Given the description of an element on the screen output the (x, y) to click on. 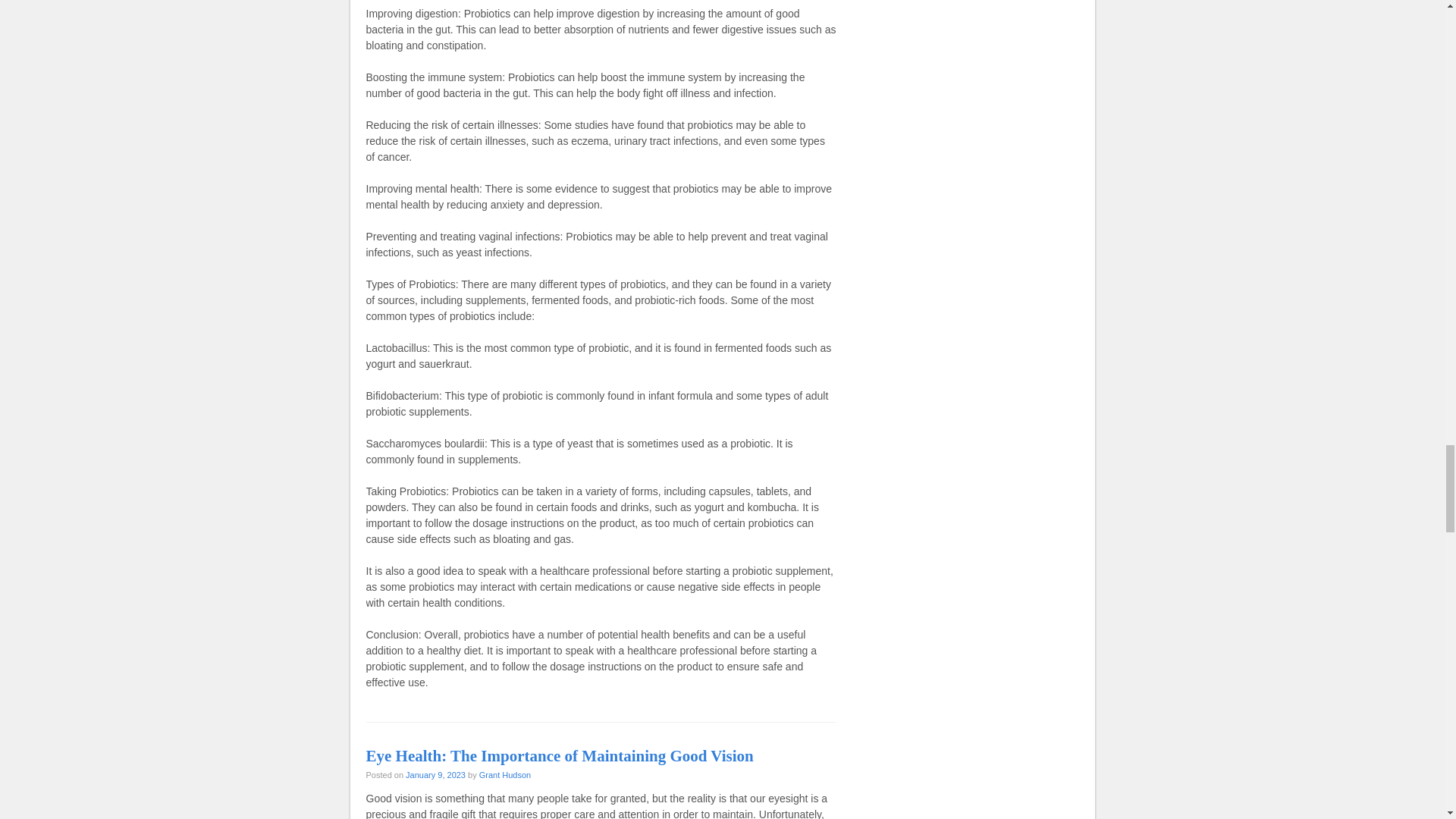
Eye Health: The Importance of Maintaining Good Vision (558, 755)
January 9, 2023 (435, 774)
Grant Hudson (505, 774)
